Given the description of an element on the screen output the (x, y) to click on. 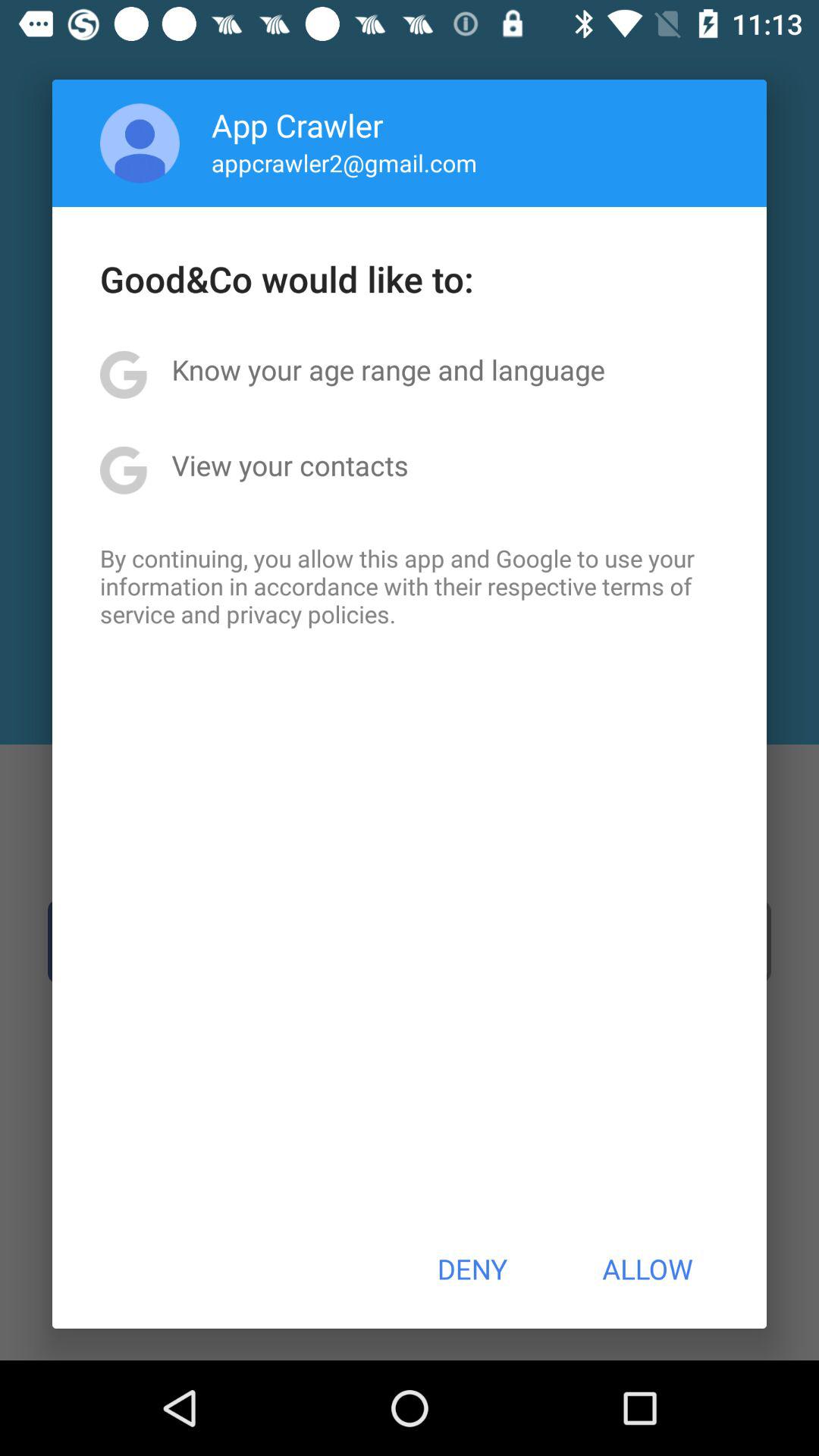
open the app above the good co would app (139, 143)
